Given the description of an element on the screen output the (x, y) to click on. 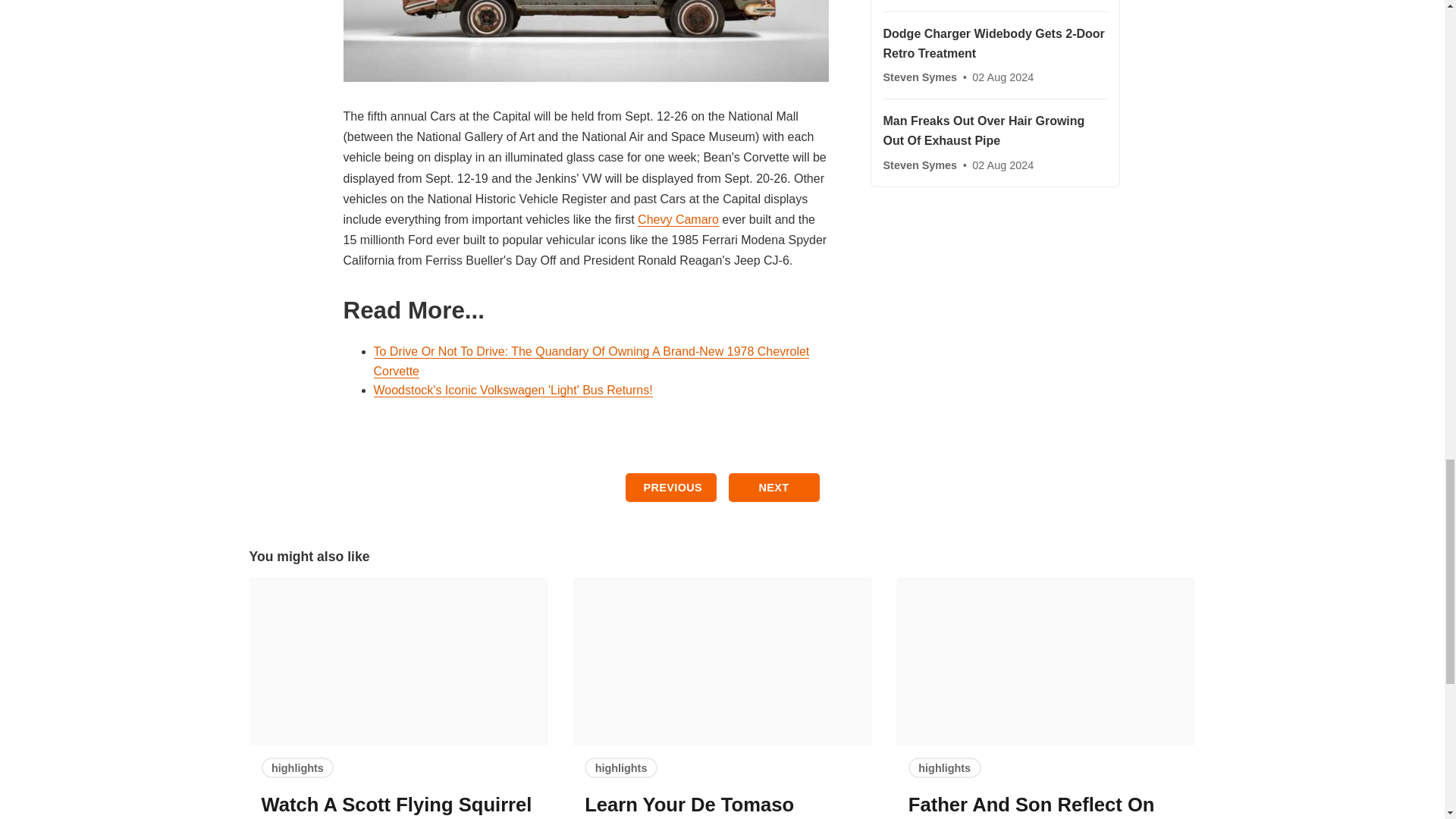
Chevy Camaro (678, 219)
